Given the description of an element on the screen output the (x, y) to click on. 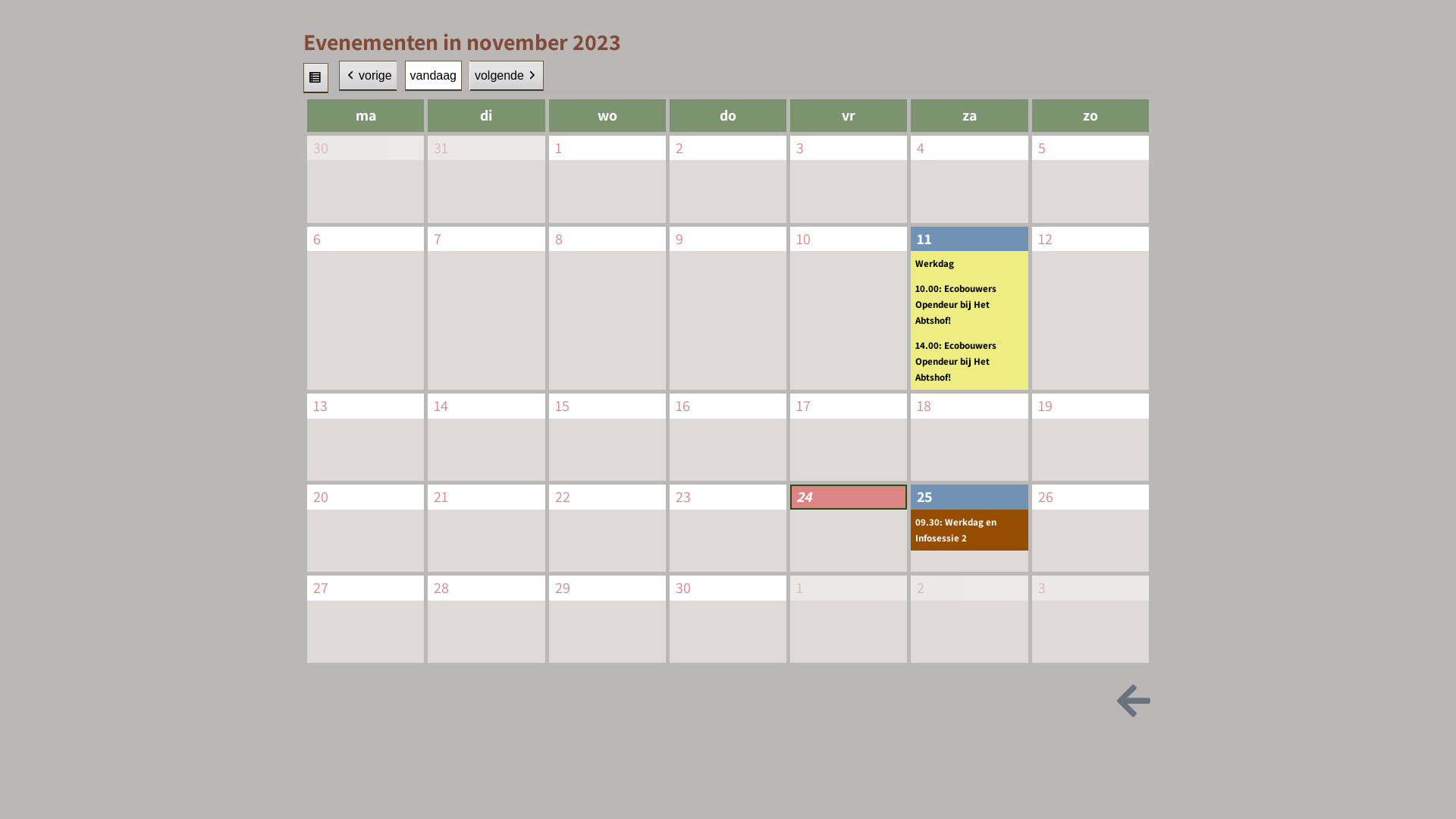
volgende Element type: text (506, 75)
09.30: Werkdag en Infosessie 2 Element type: text (968, 529)
14.00: Ecobouwers Opendeur bij Het Abtshof! Element type: text (968, 360)
bekijk als lijst Element type: text (315, 78)
vorige Element type: text (367, 75)
10.00: Ecobouwers Opendeur bij Het Abtshof! Element type: text (968, 304)
Werkdag Element type: text (968, 263)
